Given the description of an element on the screen output the (x, y) to click on. 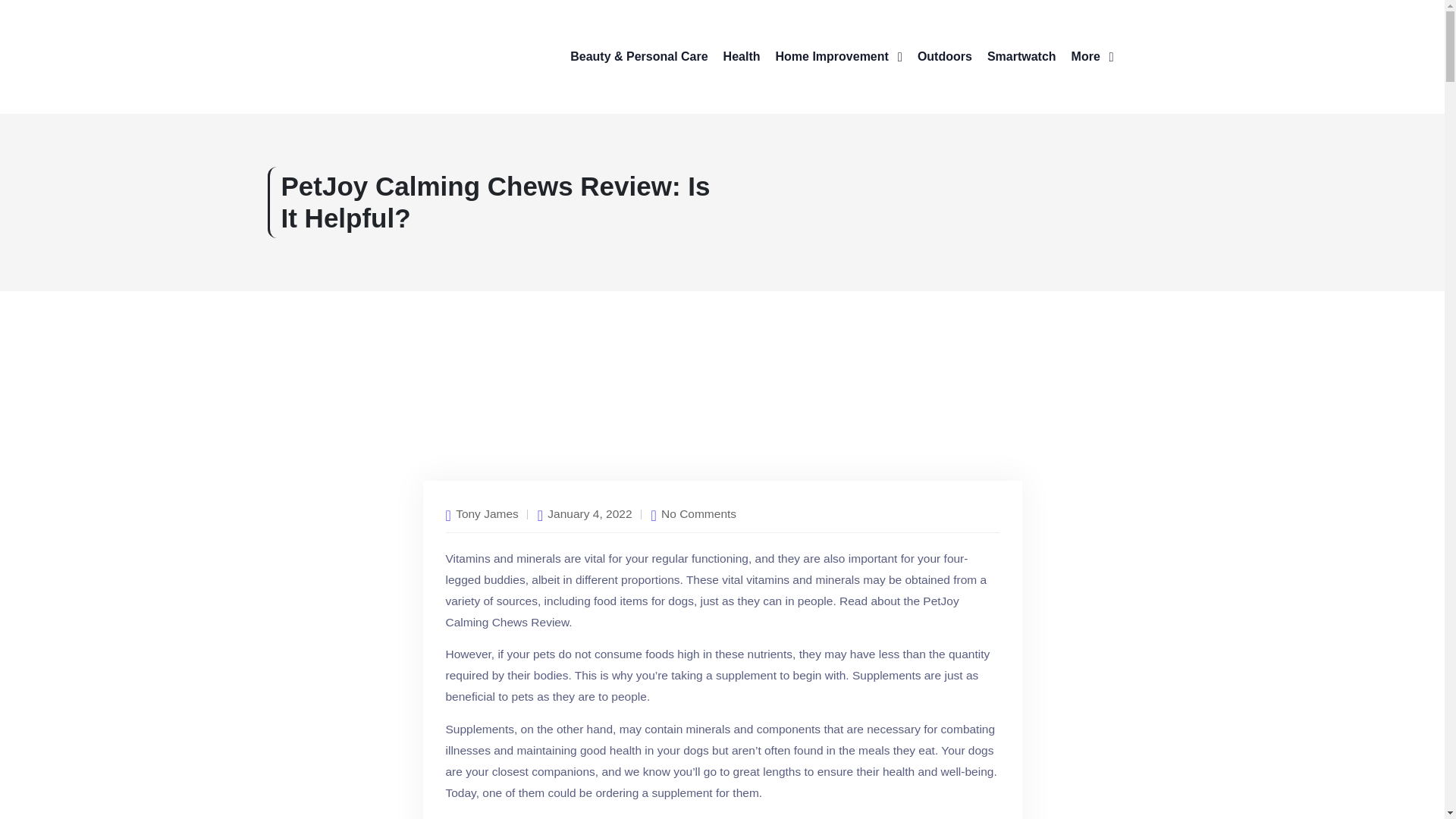
Smartwatch (1022, 56)
Home Improvement (837, 56)
Tony James (486, 513)
Smartwatch (1022, 56)
Home Improvement (837, 56)
